Given the description of an element on the screen output the (x, y) to click on. 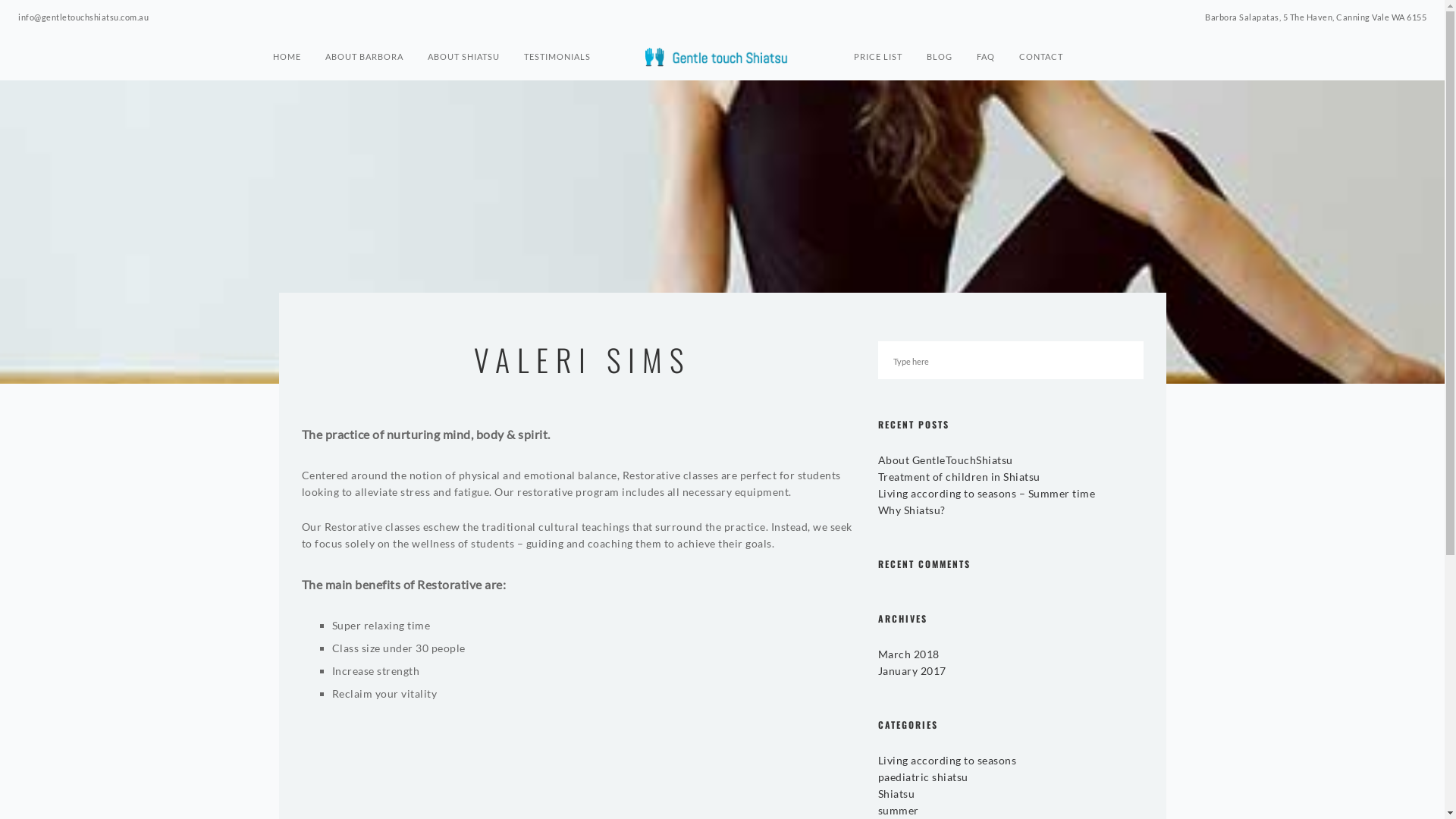
March 2018 Element type: text (908, 653)
About GentleTouchShiatsu Element type: text (945, 459)
ABOUT BARBORA Element type: text (364, 57)
PRICE LIST Element type: text (877, 57)
ABOUT SHIATSU Element type: text (463, 57)
CONTACT Element type: text (1041, 57)
FAQ Element type: text (985, 57)
HOME Element type: text (287, 57)
Living according to seasons Element type: text (947, 759)
Why Shiatsu? Element type: text (911, 509)
summer Element type: text (898, 809)
TESTIMONIALS Element type: text (557, 57)
Shiatsu Element type: text (896, 793)
January 2017 Element type: text (912, 670)
Treatment of children in Shiatsu Element type: text (959, 476)
BLOG Element type: text (939, 57)
paediatric shiatsu Element type: text (923, 776)
